Given the description of an element on the screen output the (x, y) to click on. 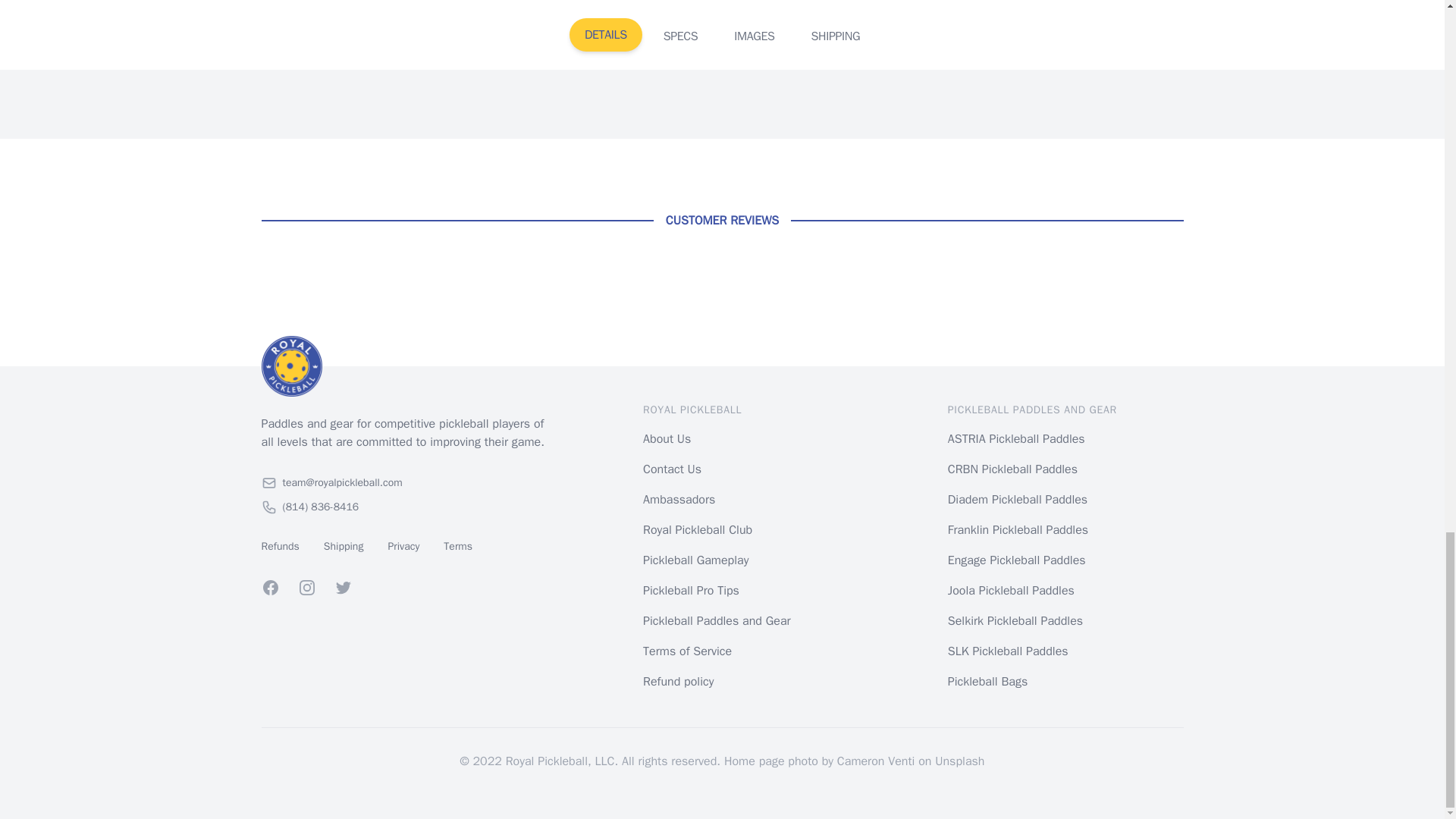
Refunds (279, 546)
Privacy (403, 546)
Shipping (343, 546)
Royal Pickleball (405, 365)
Terms (457, 546)
Facebook (269, 587)
